Given the description of an element on the screen output the (x, y) to click on. 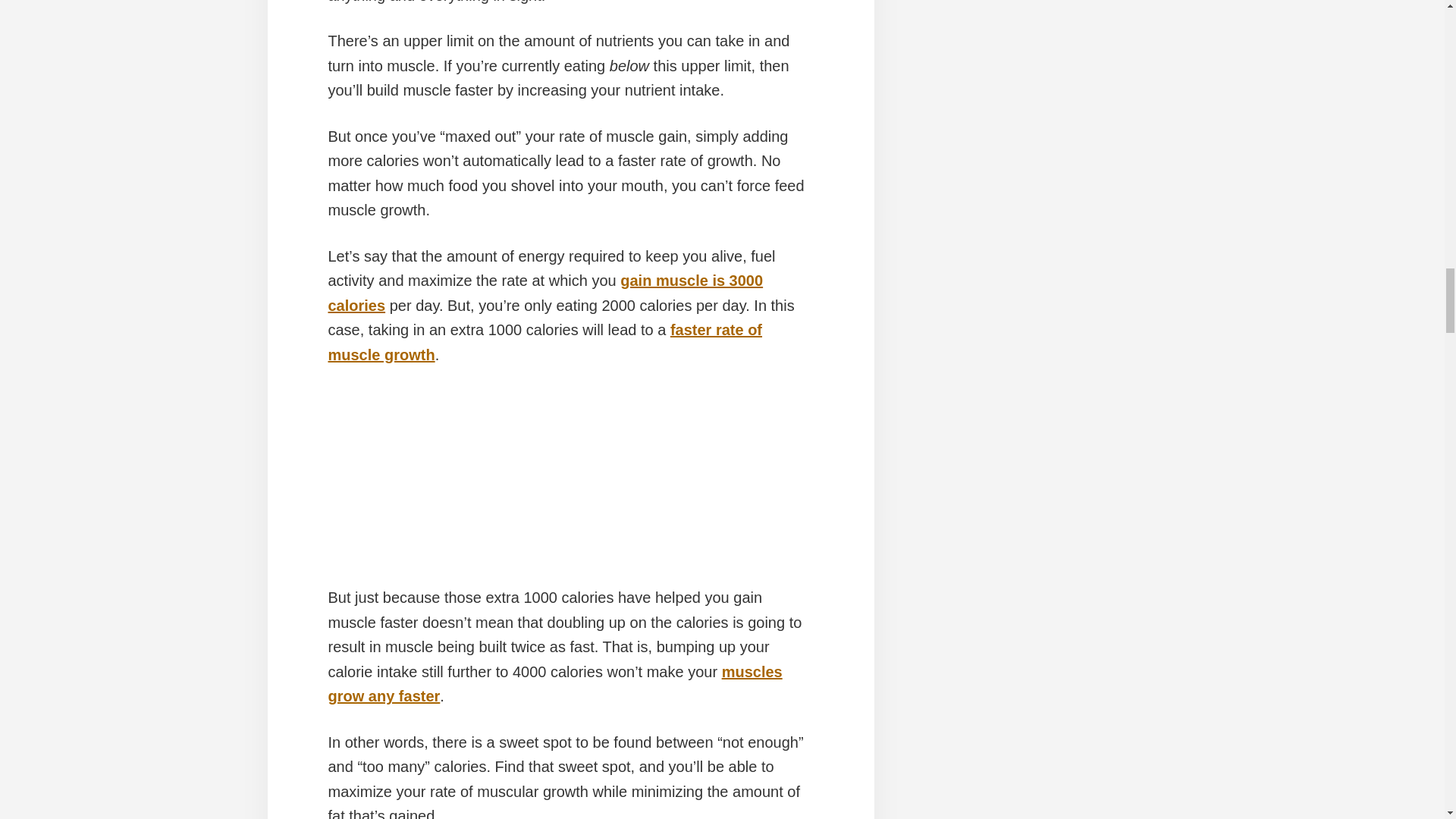
gain muscle is 3000 calories (544, 292)
muscles grow any faster (554, 684)
faster rate of muscle growth (544, 342)
